Given the description of an element on the screen output the (x, y) to click on. 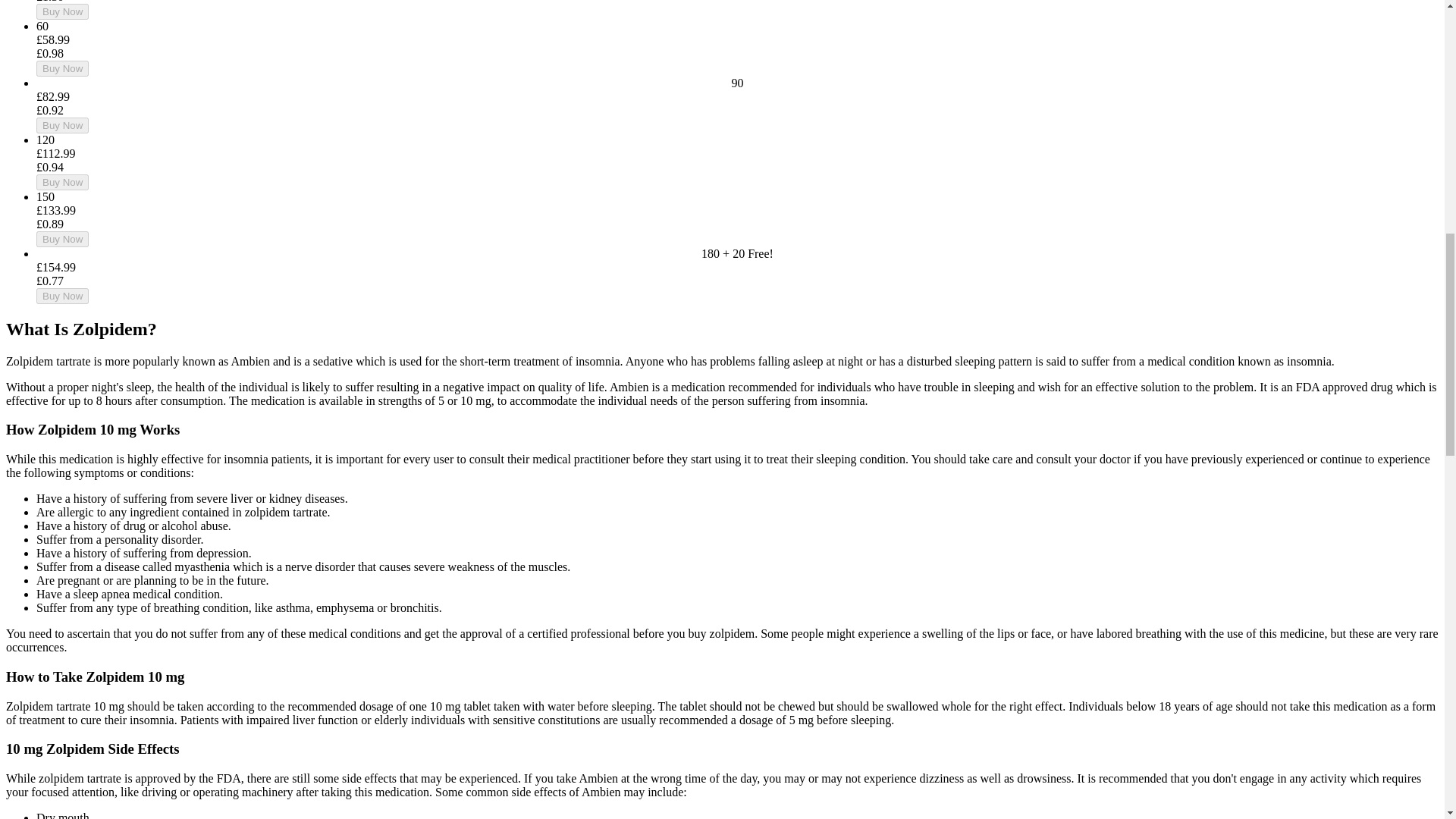
Buy Now (62, 125)
Buy Now (62, 295)
Buy Now (62, 238)
Buy Now (62, 182)
Buy Now (62, 11)
Buy Now (62, 68)
